Given the description of an element on the screen output the (x, y) to click on. 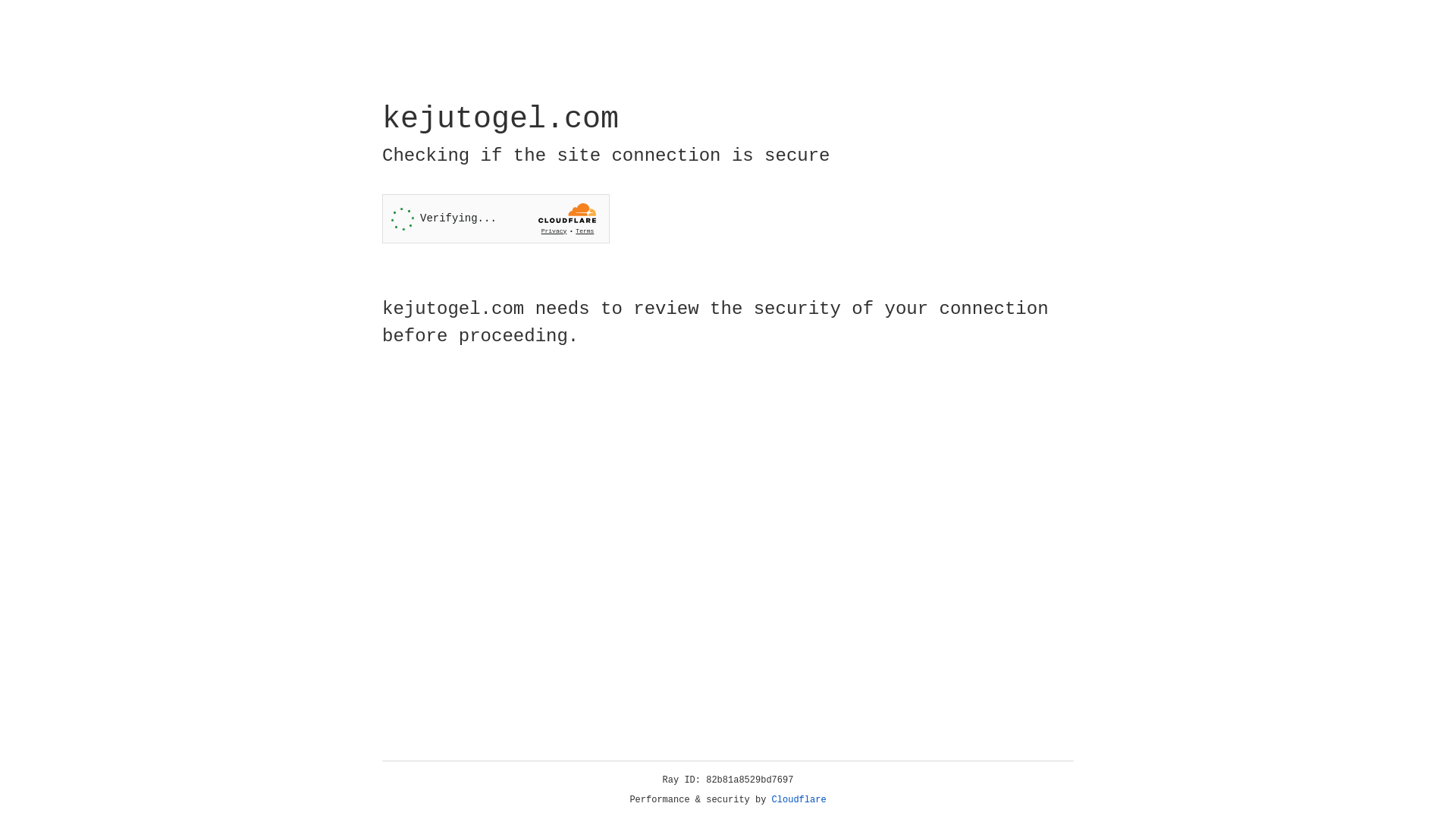
Cloudflare Element type: text (798, 799)
Widget containing a Cloudflare security challenge Element type: hover (495, 218)
